Given the description of an element on the screen output the (x, y) to click on. 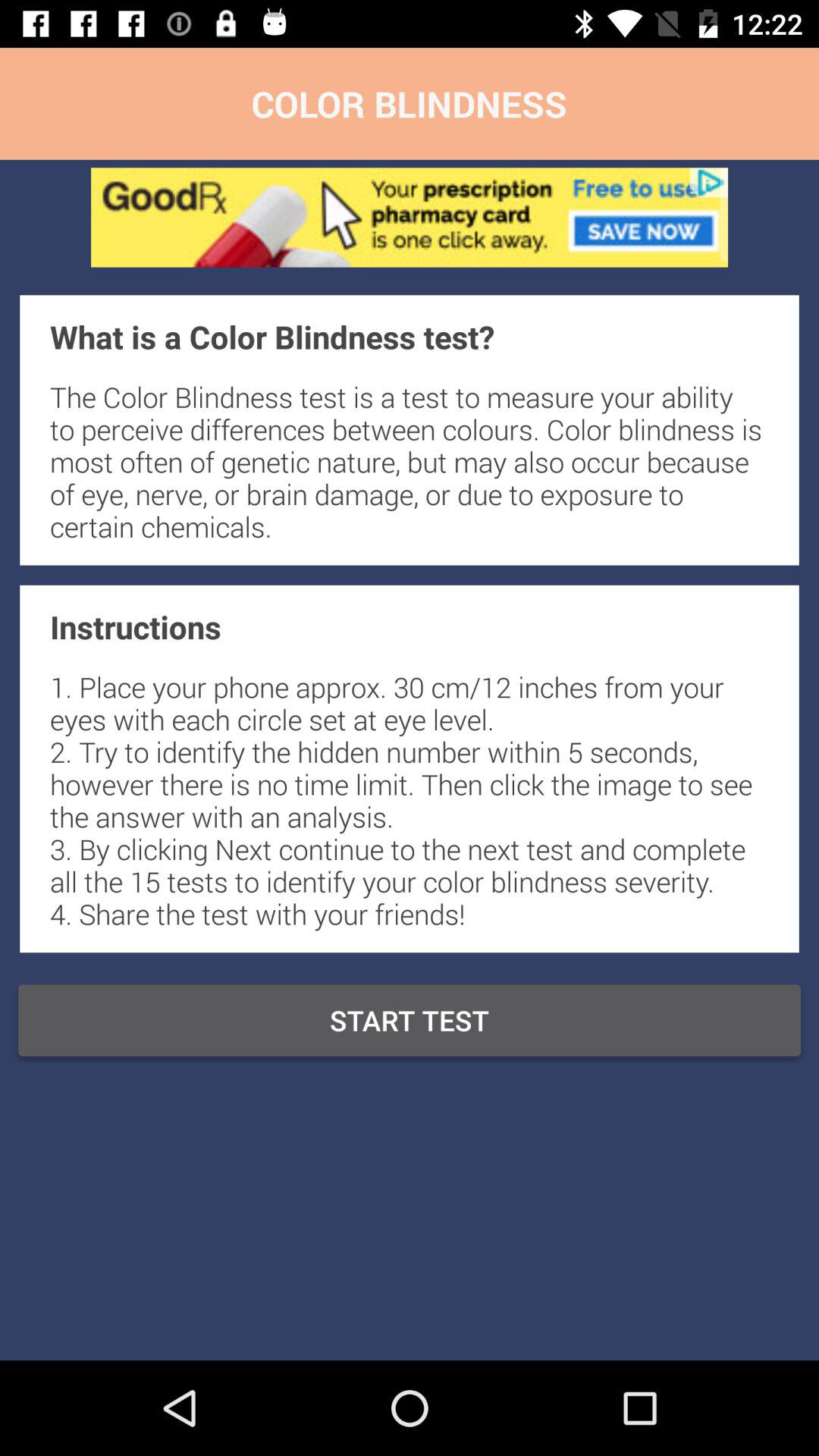
go to advertisement (409, 217)
